Given the description of an element on the screen output the (x, y) to click on. 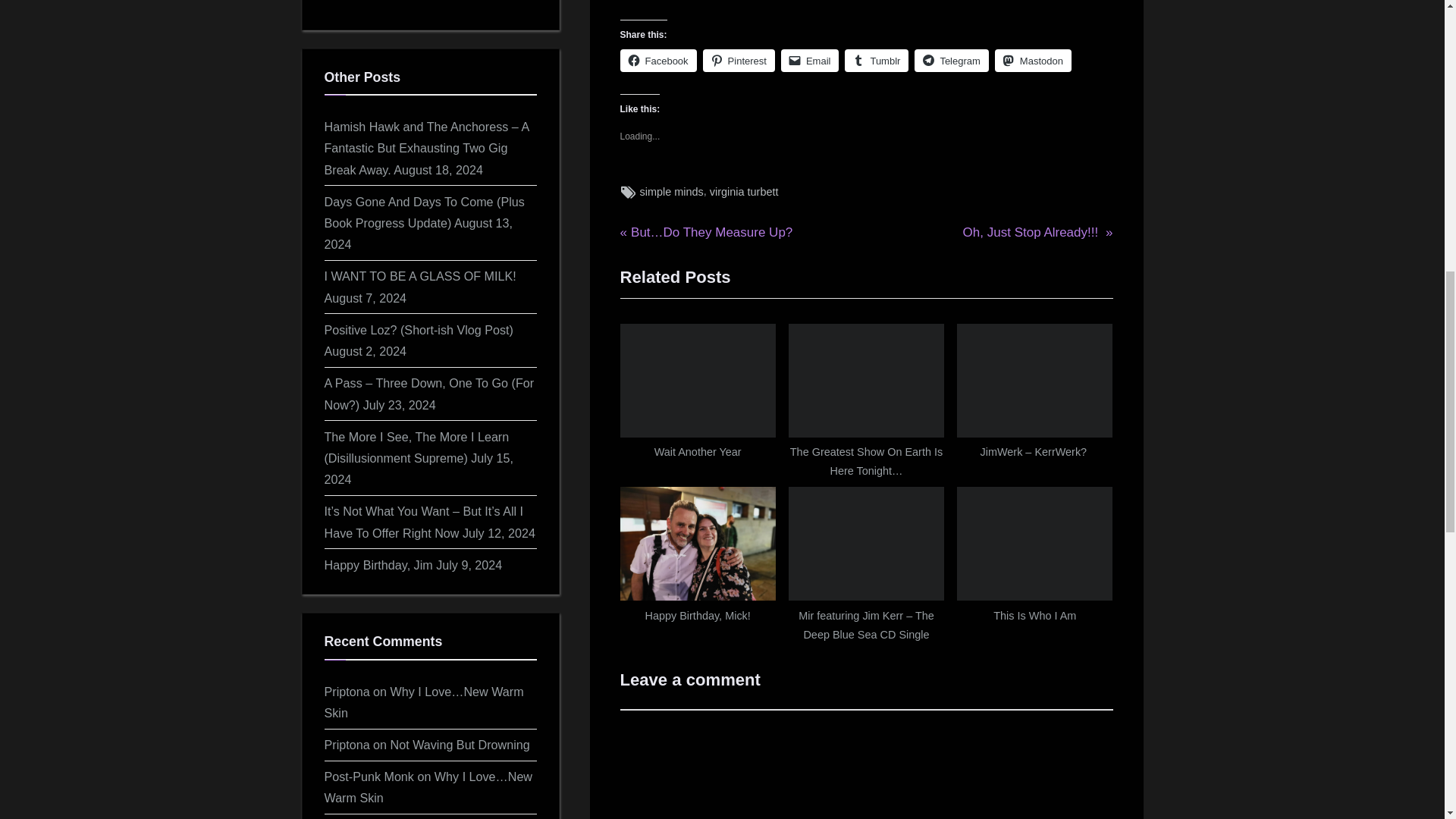
Click to email a link to a friend (810, 60)
Comment Form (866, 764)
Email (1037, 232)
Happy Birthday, Mick! (810, 60)
Mastodon (698, 558)
Click to share on Pinterest (1032, 60)
Telegram (738, 60)
Click to share on Mastodon (951, 60)
Tumblr (1032, 60)
